Given the description of an element on the screen output the (x, y) to click on. 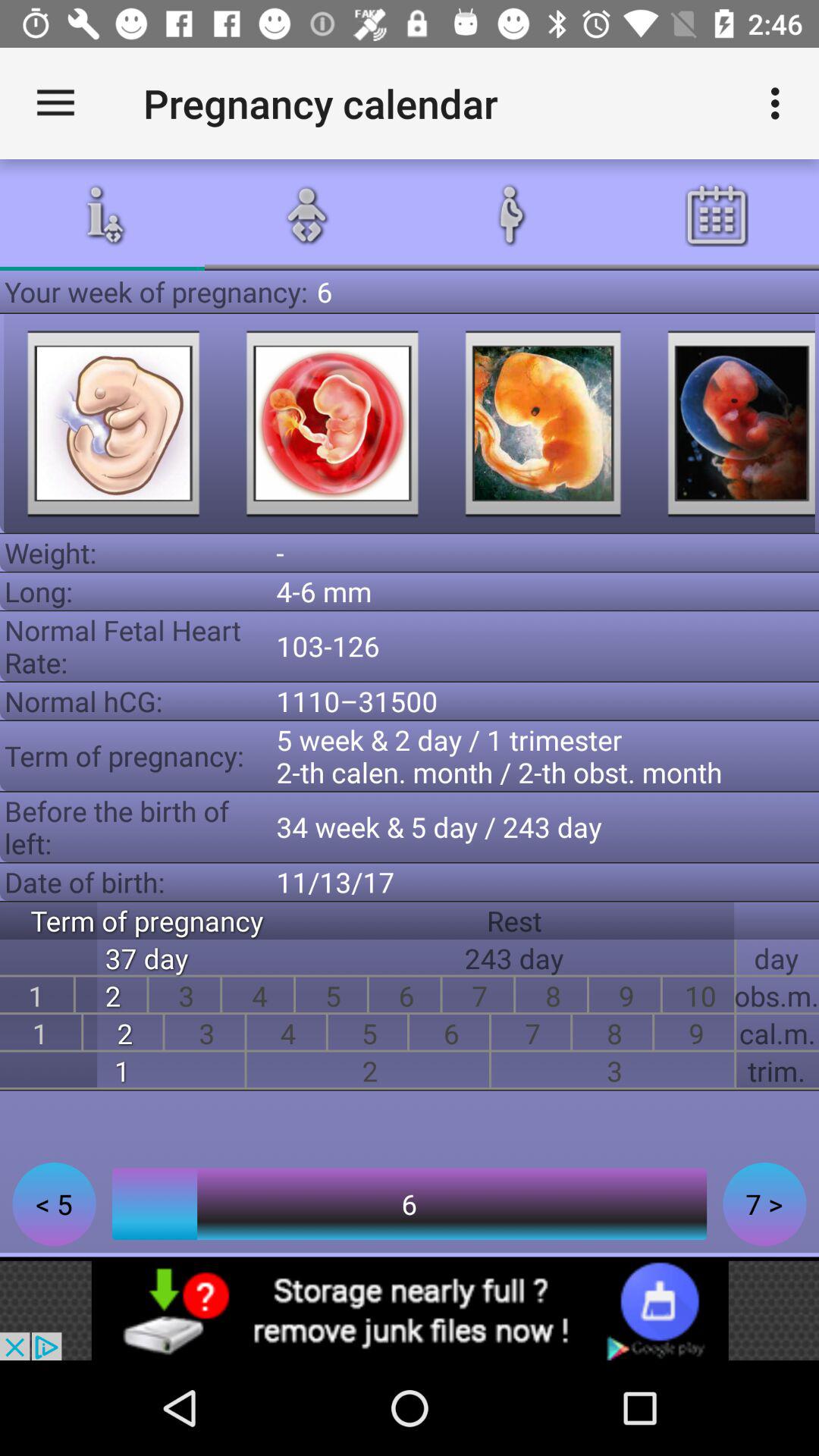
google search (542, 422)
